Given the description of an element on the screen output the (x, y) to click on. 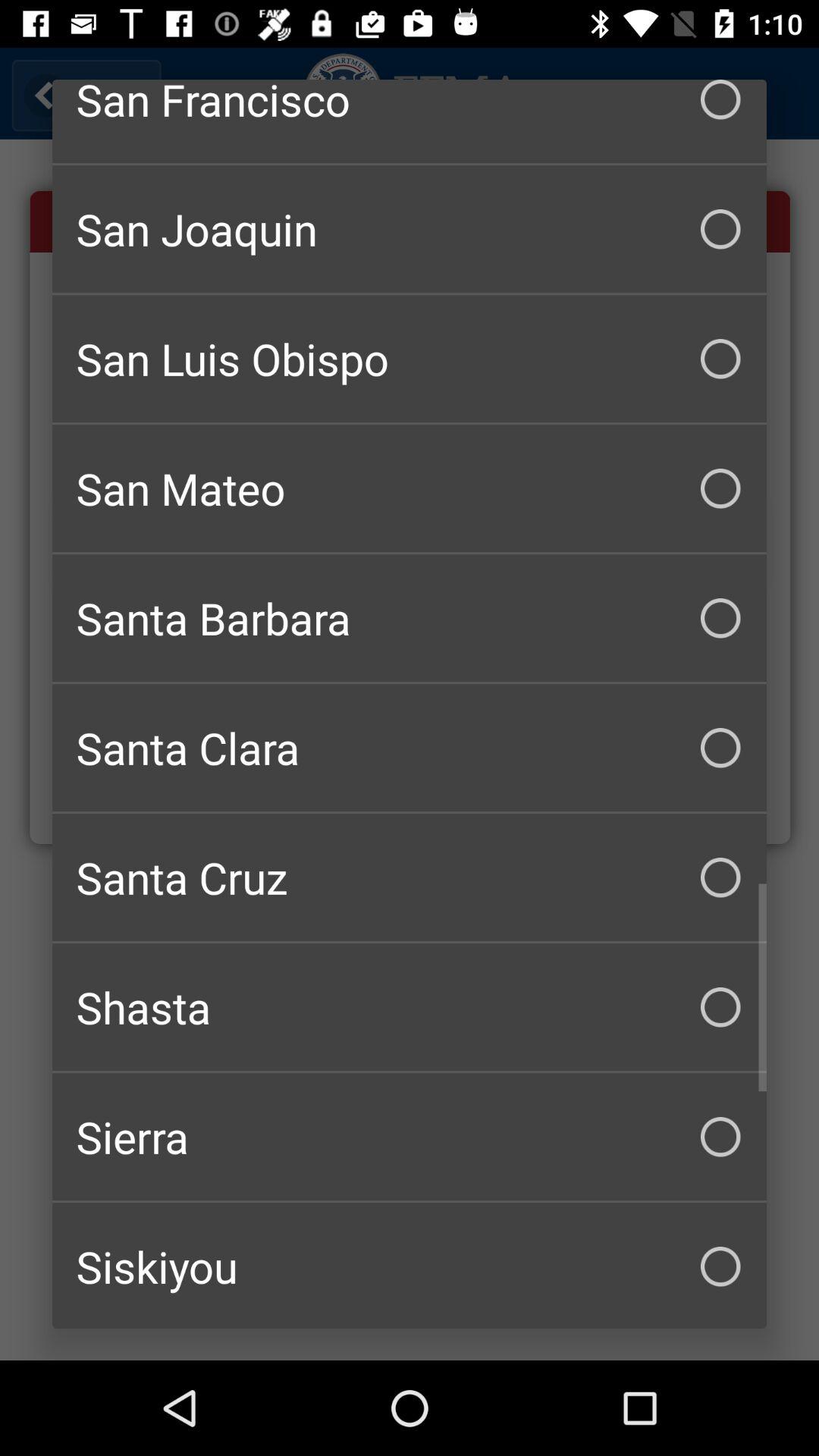
select the siskiyou checkbox (409, 1265)
